Given the description of an element on the screen output the (x, y) to click on. 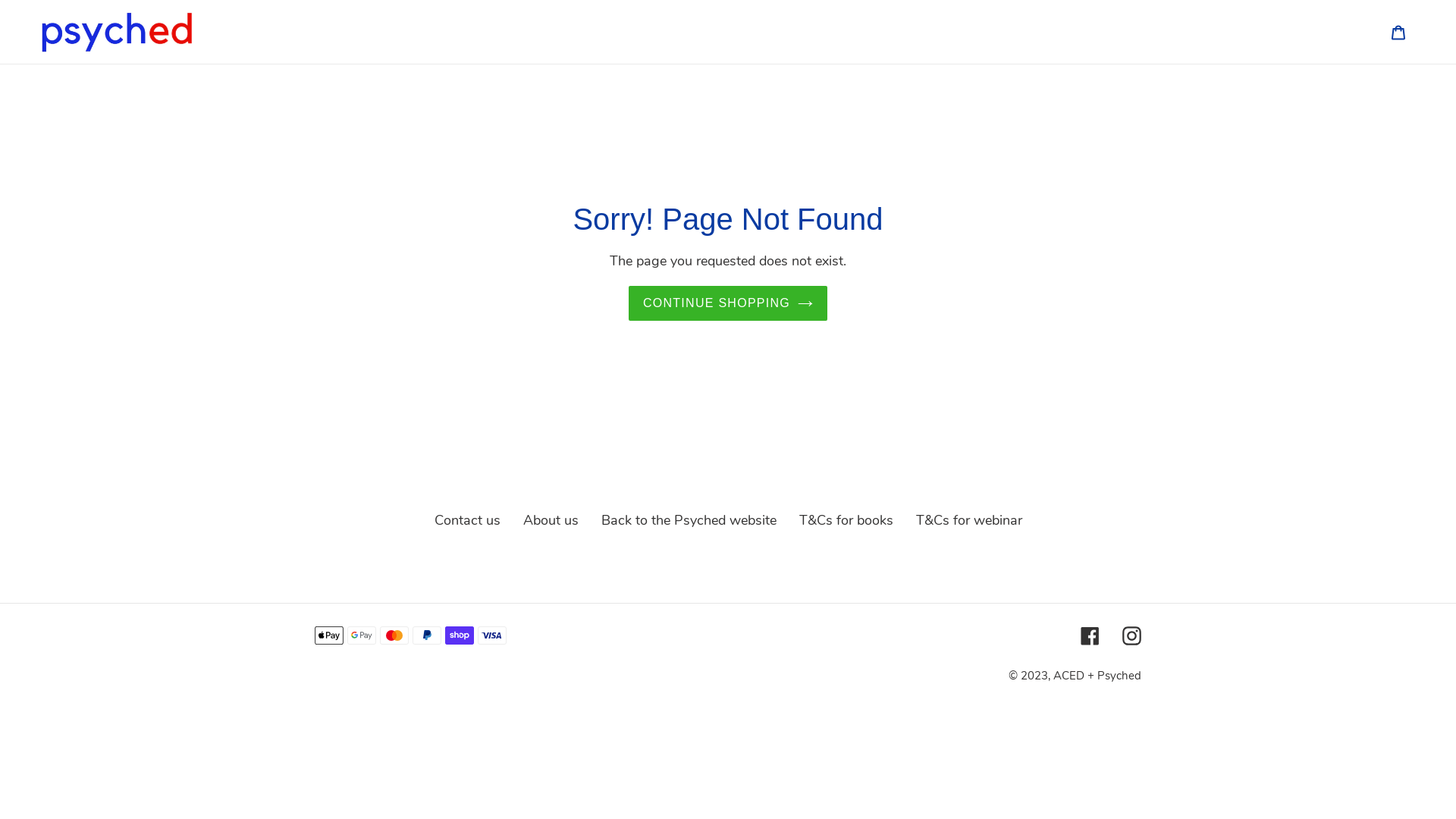
CONTINUE SHOPPING Element type: text (727, 302)
Back to the Psyched website Element type: text (687, 520)
T&Cs for books Element type: text (846, 520)
Cart Element type: text (1398, 31)
ACED + Psyched Element type: text (1097, 675)
About us Element type: text (550, 520)
Contact us Element type: text (466, 520)
T&Cs for webinar Element type: text (969, 520)
Instagram Element type: text (1131, 634)
Search Element type: text (1377, 31)
Facebook Element type: text (1089, 634)
